Given the description of an element on the screen output the (x, y) to click on. 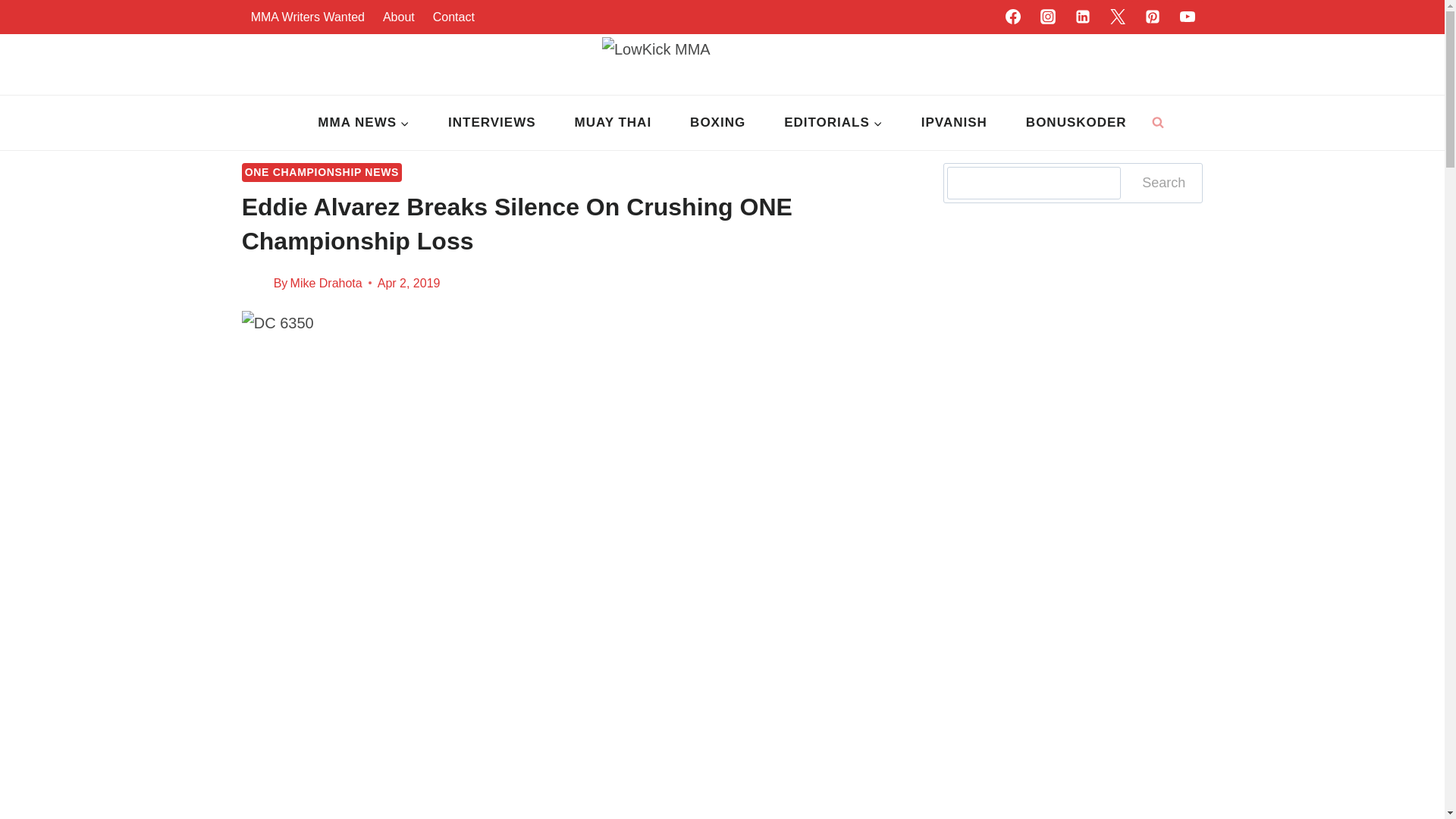
BOXING (718, 122)
EDITORIALS (833, 122)
Contact (453, 17)
IPVANISH (953, 122)
MMA NEWS (363, 122)
MUAY THAI (612, 122)
MMA Writers Wanted (307, 17)
BONUSKODER (1075, 122)
